Given the description of an element on the screen output the (x, y) to click on. 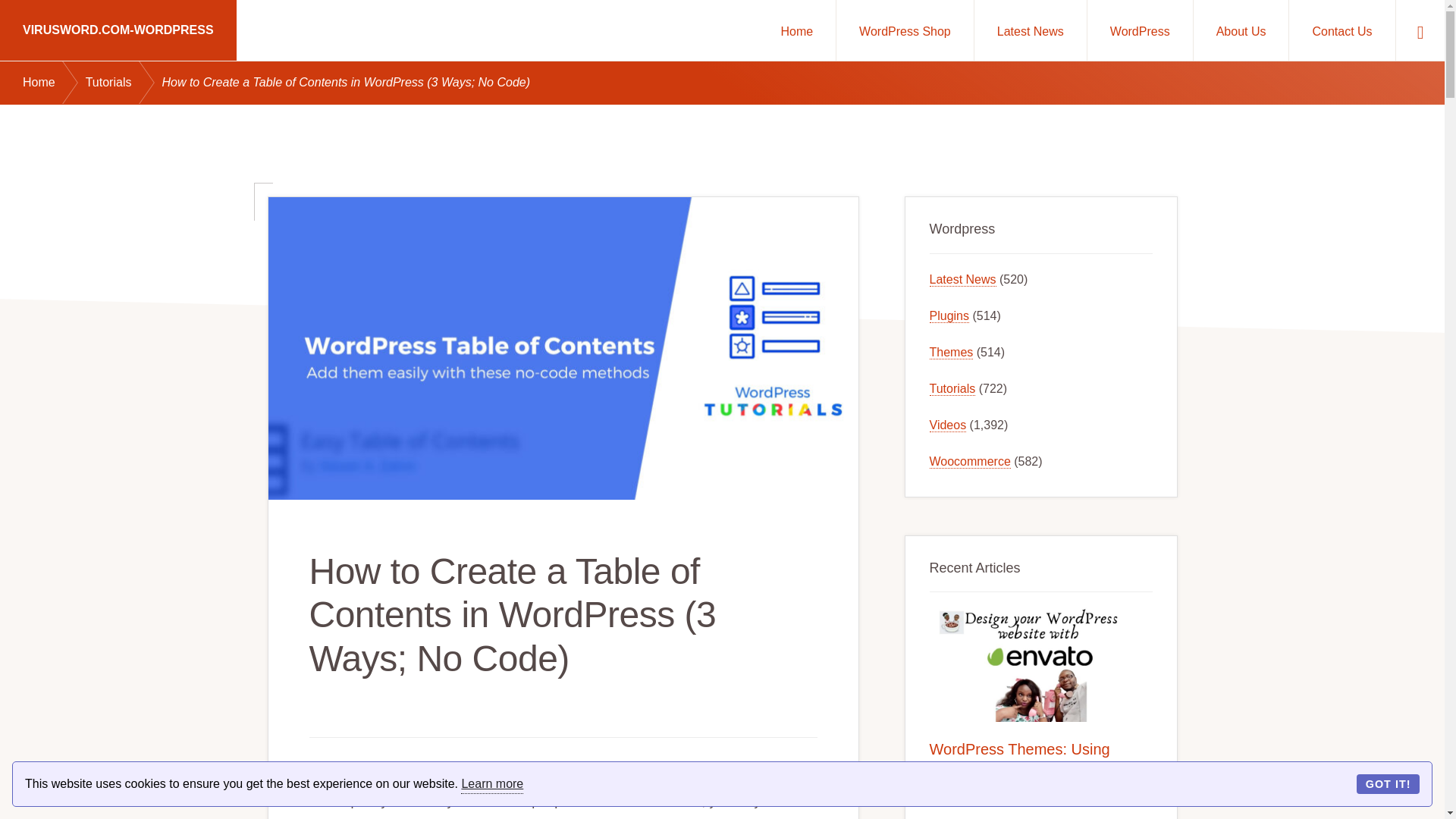
Latest News (1030, 30)
VIRUSWORD.COM-WORDPRESS (117, 30)
GOT IT! (1387, 783)
crafting content (579, 774)
About Us (1240, 30)
Tutorials (123, 82)
Learn more (491, 783)
WordPress (1139, 30)
Home (796, 30)
WordPress Shop (904, 30)
Contact Us (1341, 30)
Home (54, 82)
